Given the description of an element on the screen output the (x, y) to click on. 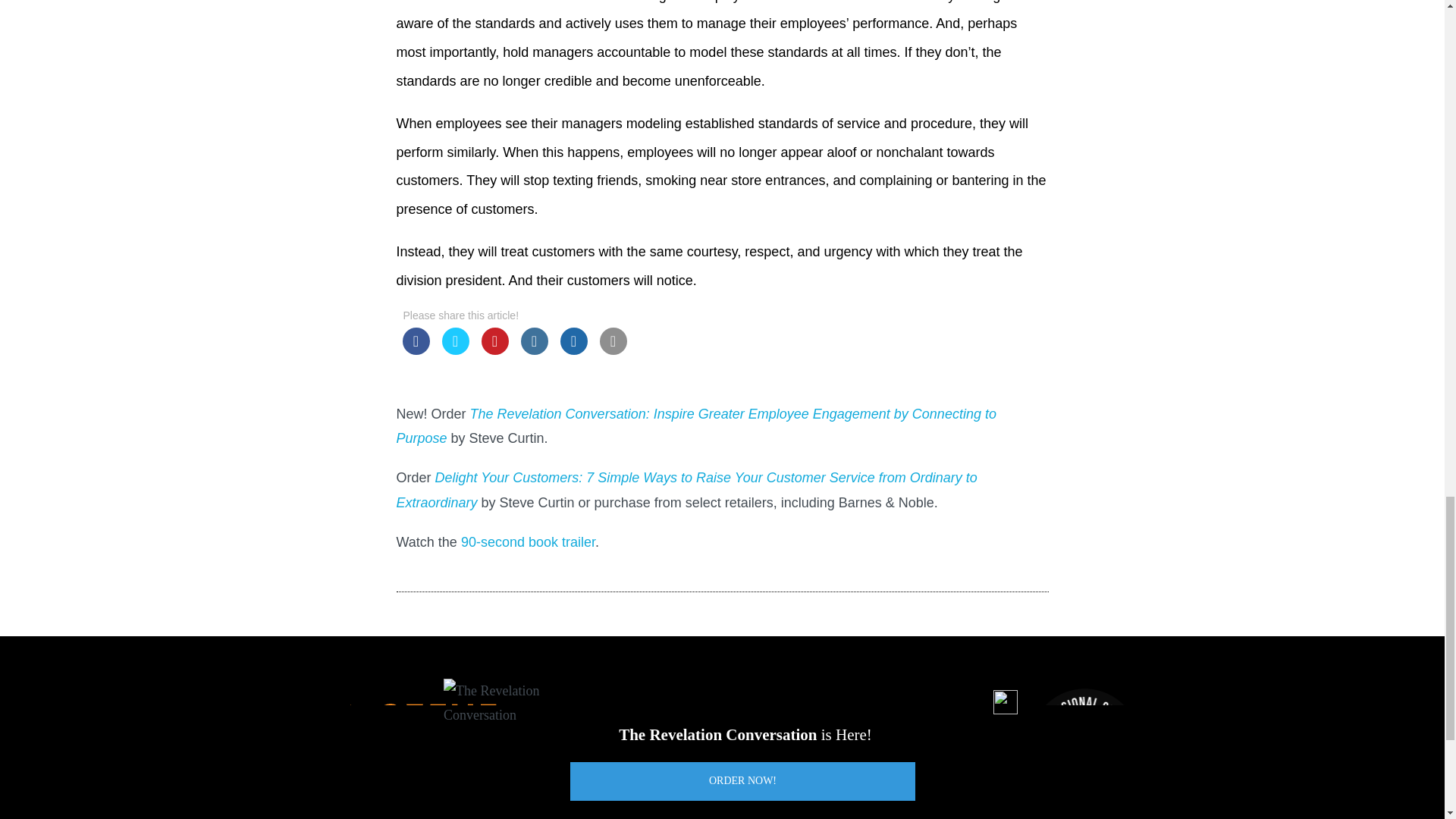
BLOG (815, 756)
STORE (761, 756)
90-second book trailer (528, 541)
CONTACT (879, 756)
ABOUT (701, 756)
